Given the description of an element on the screen output the (x, y) to click on. 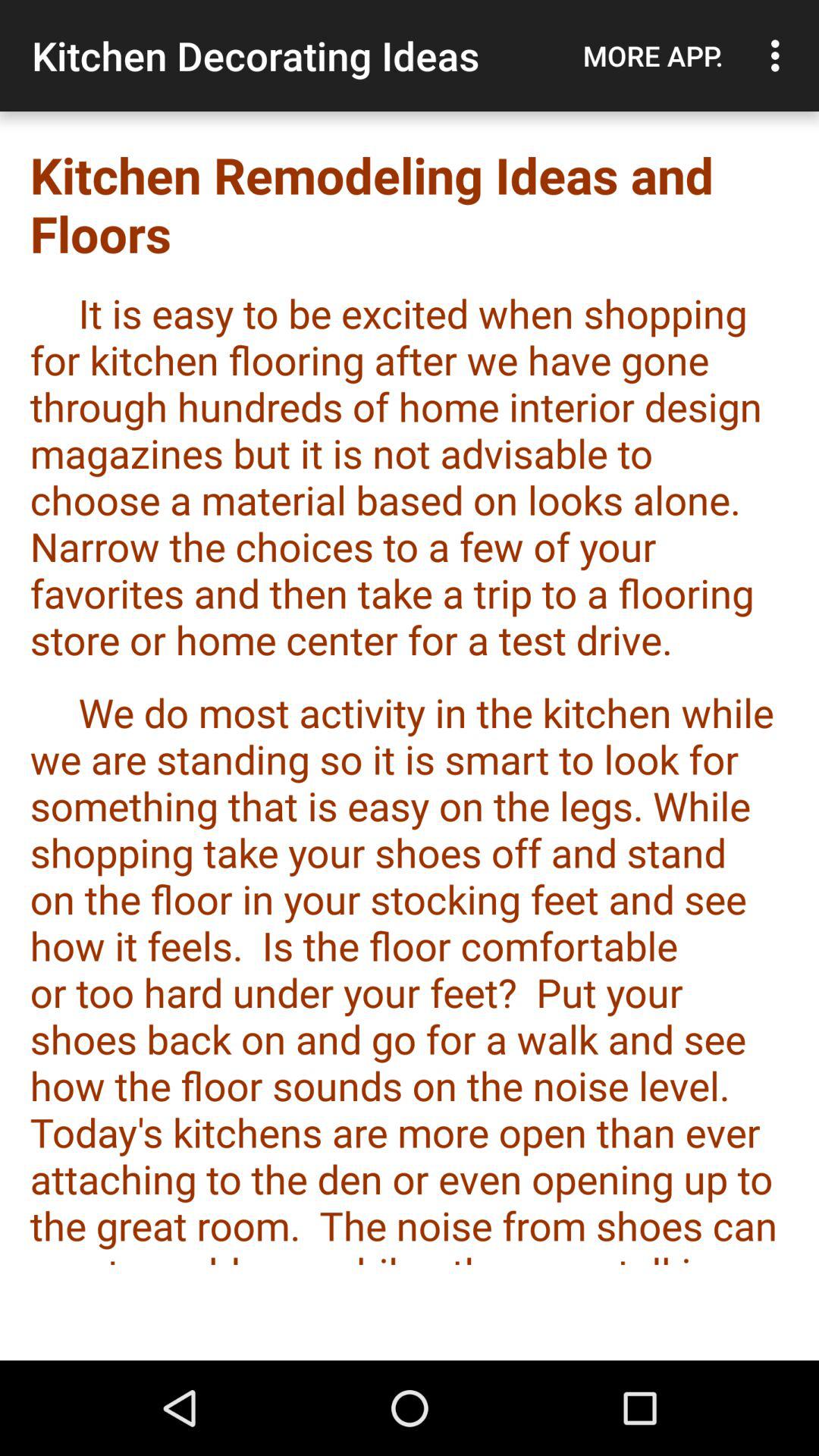
launch the icon above the kitchen remodeling ideas item (779, 55)
